Given the description of an element on the screen output the (x, y) to click on. 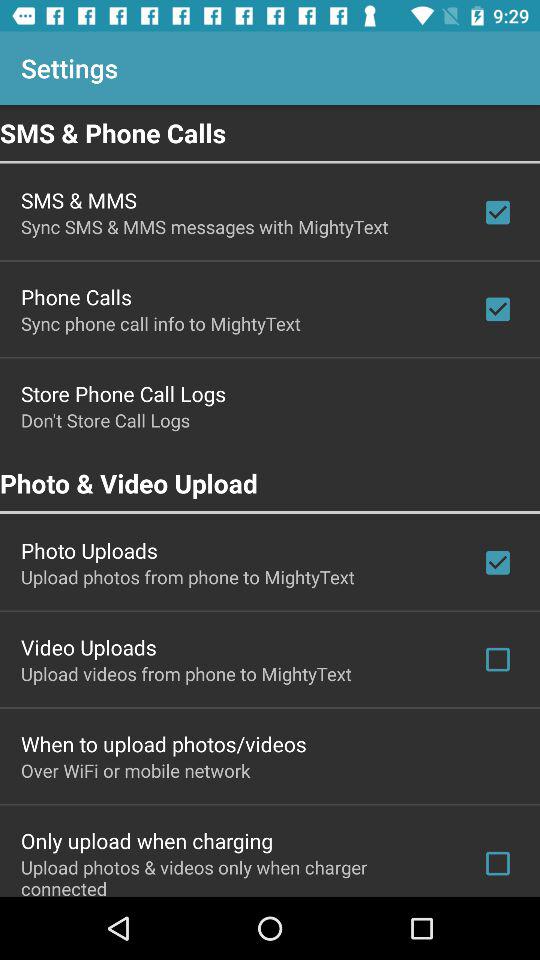
scroll until don t store item (105, 420)
